Given the description of an element on the screen output the (x, y) to click on. 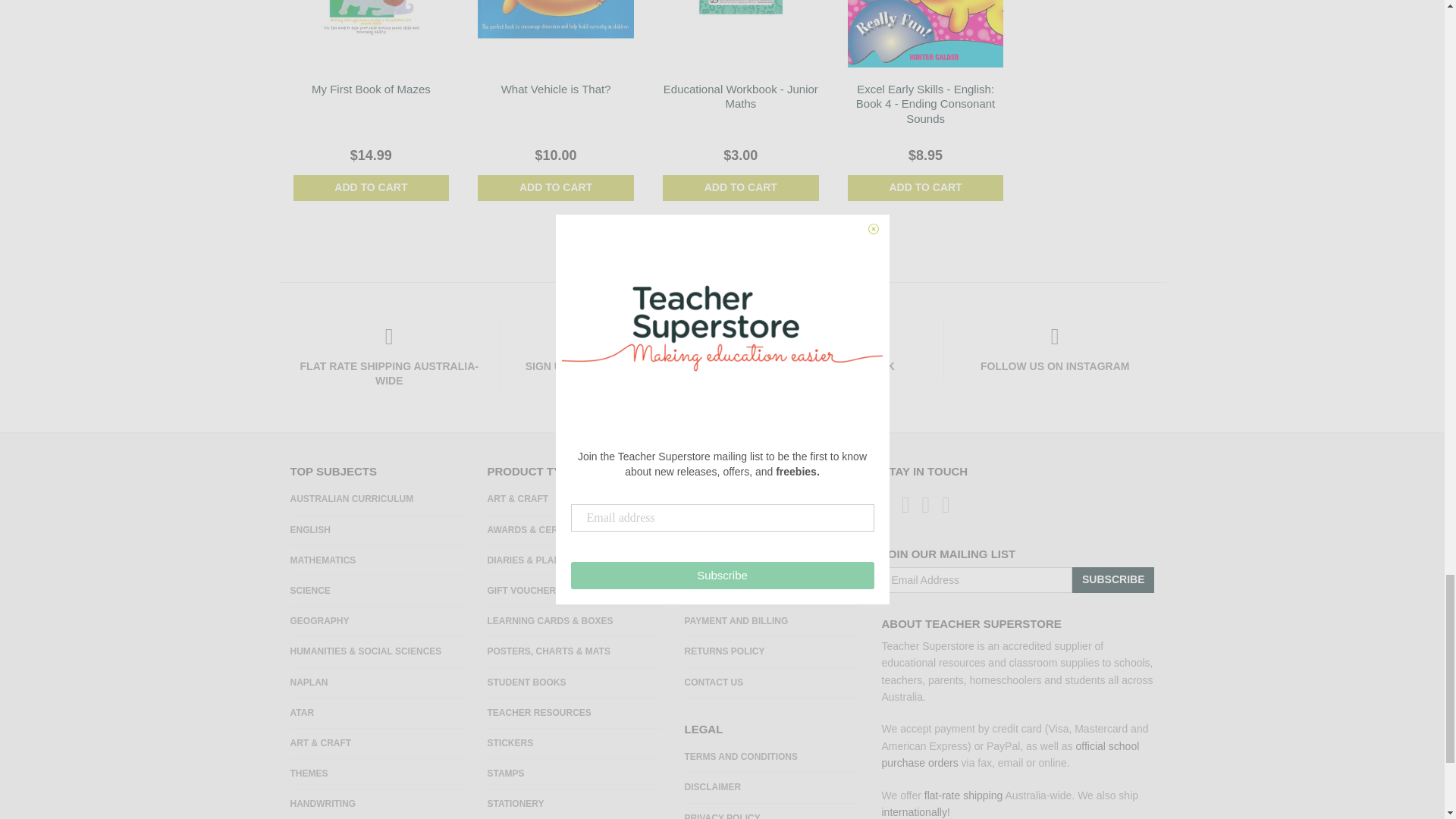
Subscribe (1112, 579)
